Given the description of an element on the screen output the (x, y) to click on. 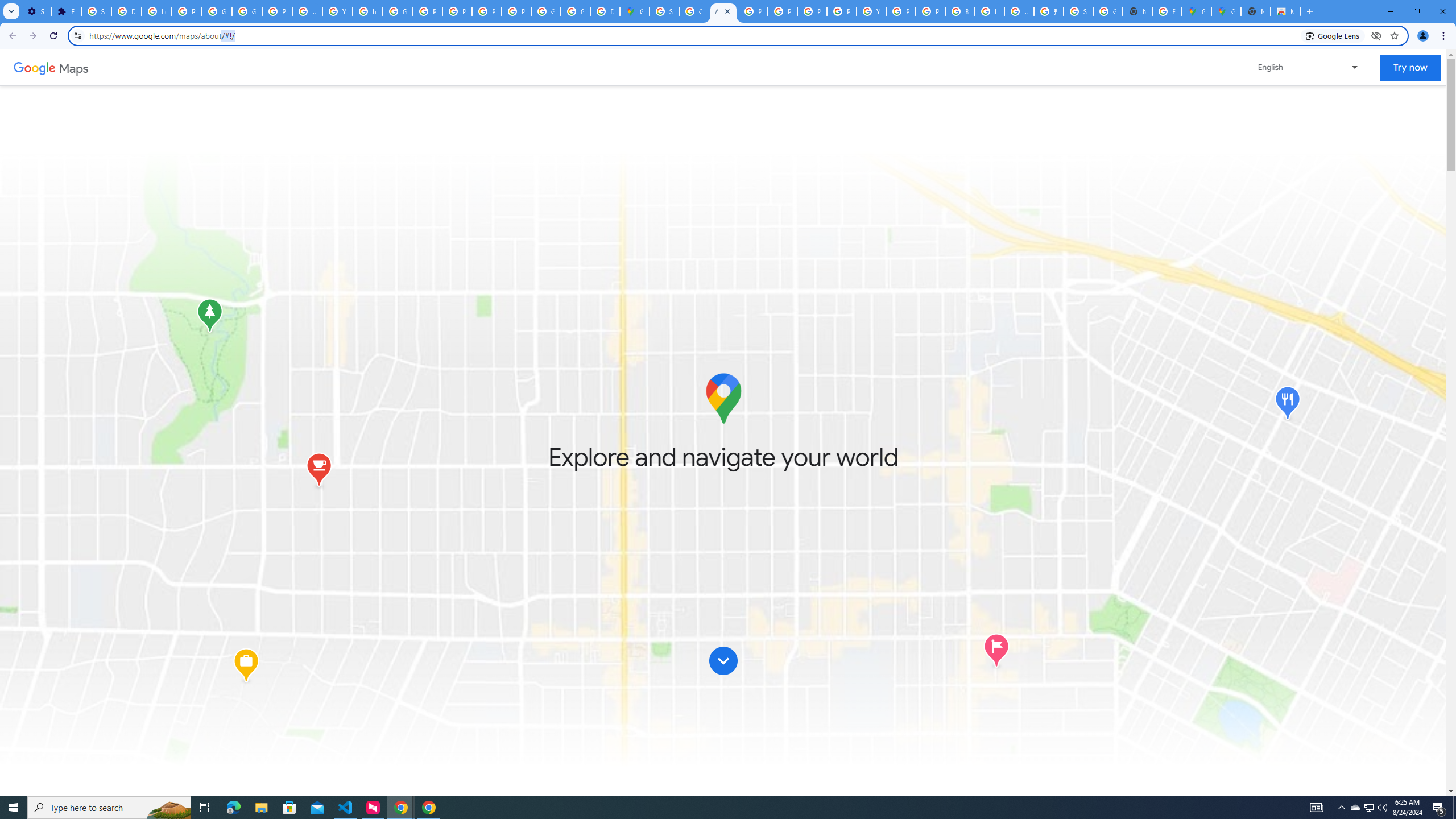
Change language or region (1308, 66)
Google Maps (634, 11)
Privacy Help Center - Policies Help (782, 11)
Privacy Help Center - Policies Help (426, 11)
Skip to Content (723, 660)
Google Maps (1196, 11)
Maps (73, 67)
